Given the description of an element on the screen output the (x, y) to click on. 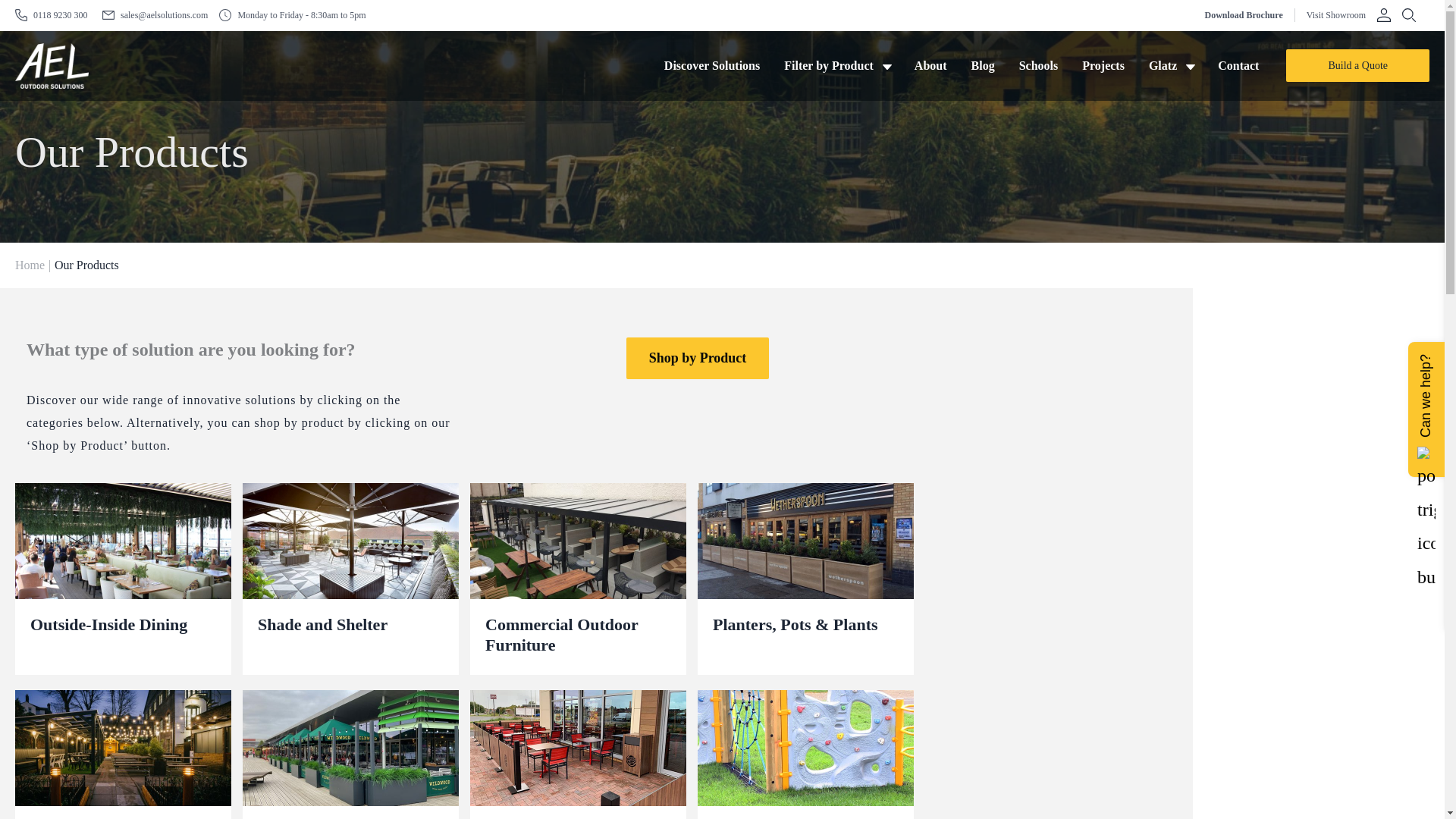
Download Brochure (1243, 14)
Visit Showroom (1335, 14)
Discover Solutions (711, 65)
Filter by Product (836, 65)
